Given the description of an element on the screen output the (x, y) to click on. 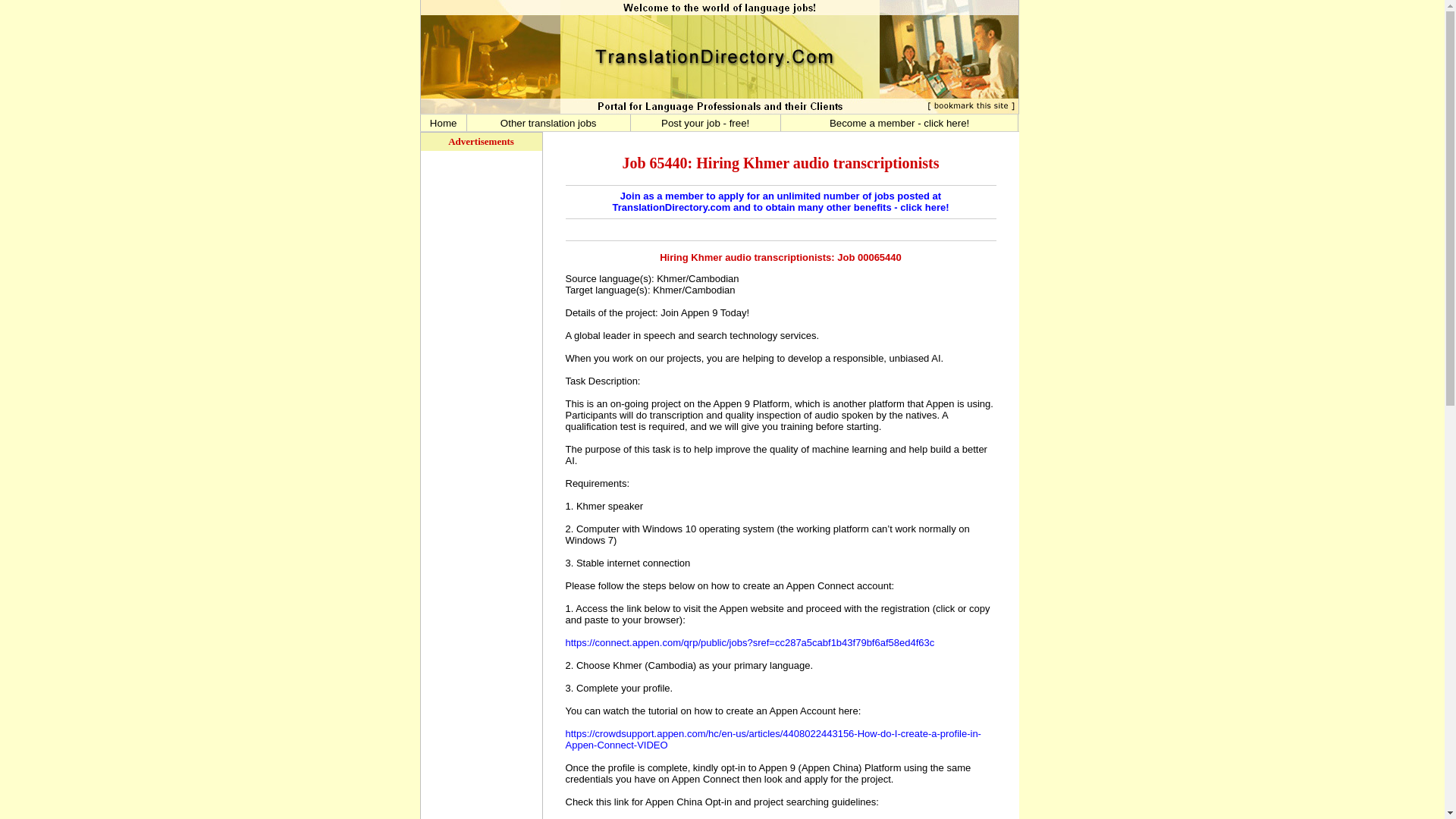
Other translation jobs (548, 122)
Become a member - click here! (899, 122)
Home (443, 122)
Post your job - free! (705, 122)
